Given the description of an element on the screen output the (x, y) to click on. 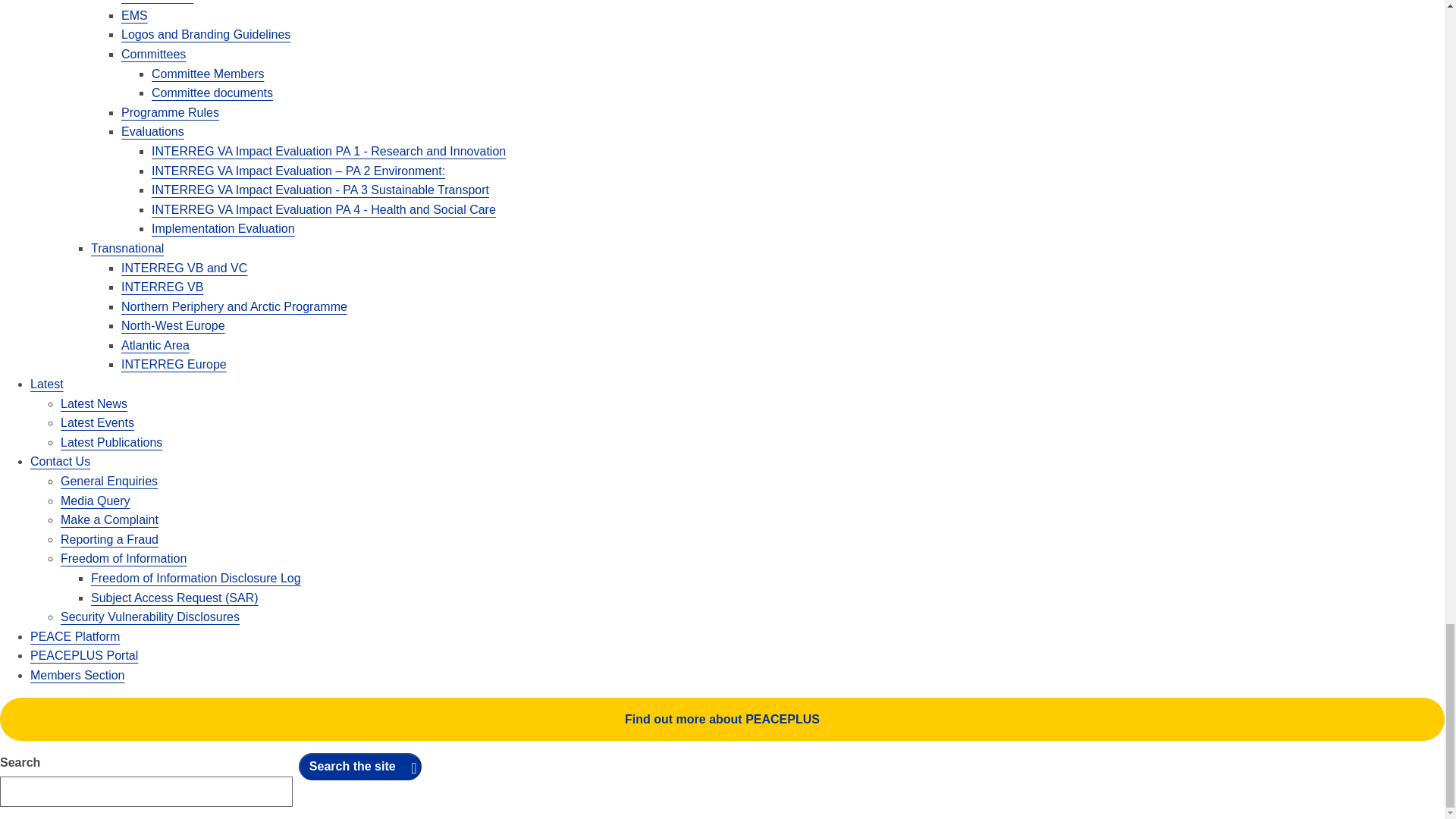
Search the site (360, 766)
Reporting a vulnerability (150, 616)
